Given the description of an element on the screen output the (x, y) to click on. 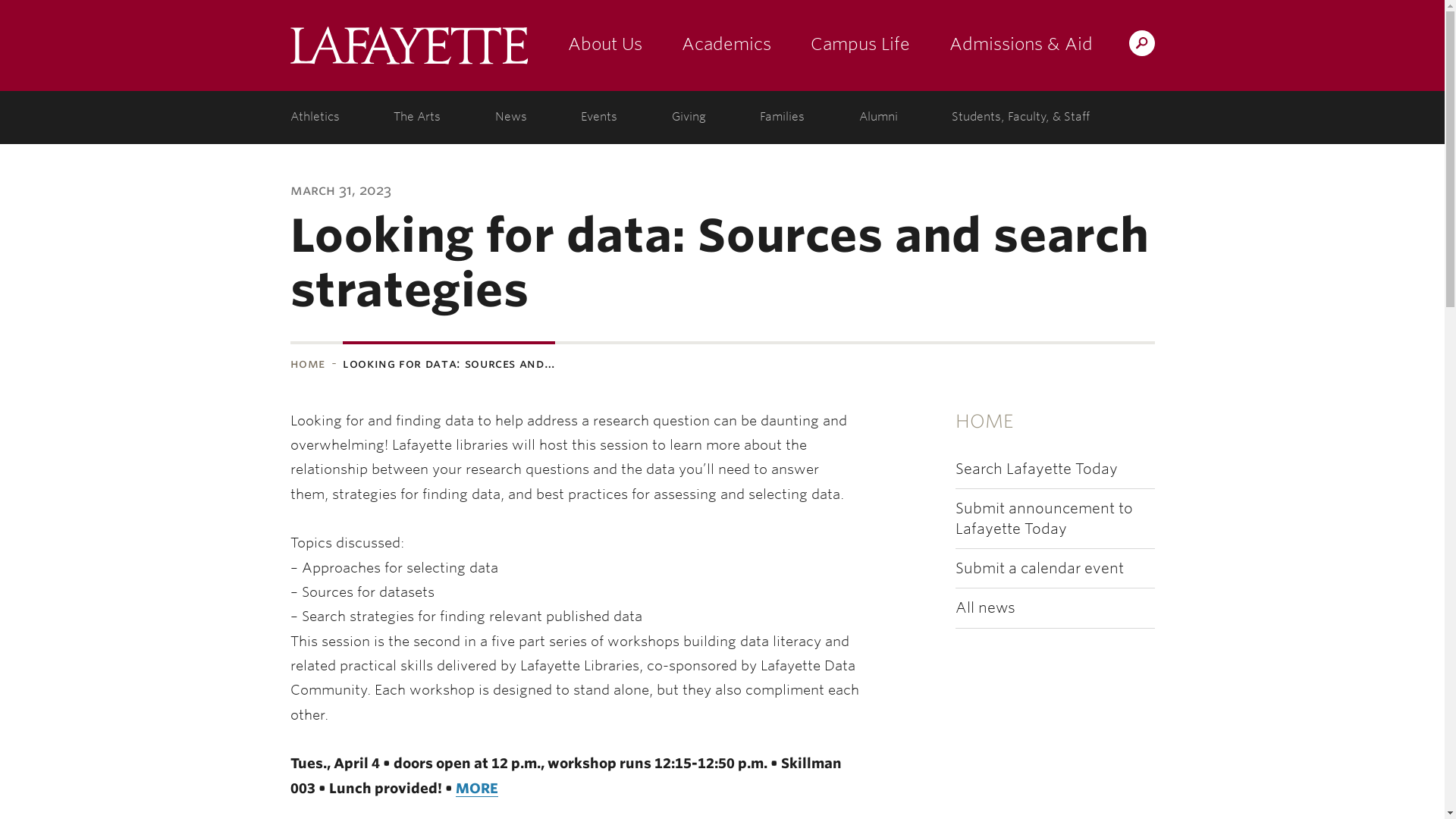
Athletics (317, 116)
Search (842, 42)
Lafayette College (408, 45)
Campus Life (859, 45)
The Arts (416, 116)
About Us (603, 45)
Search Lafayette.edu (1141, 43)
Academics (725, 45)
News (510, 116)
